Given the description of an element on the screen output the (x, y) to click on. 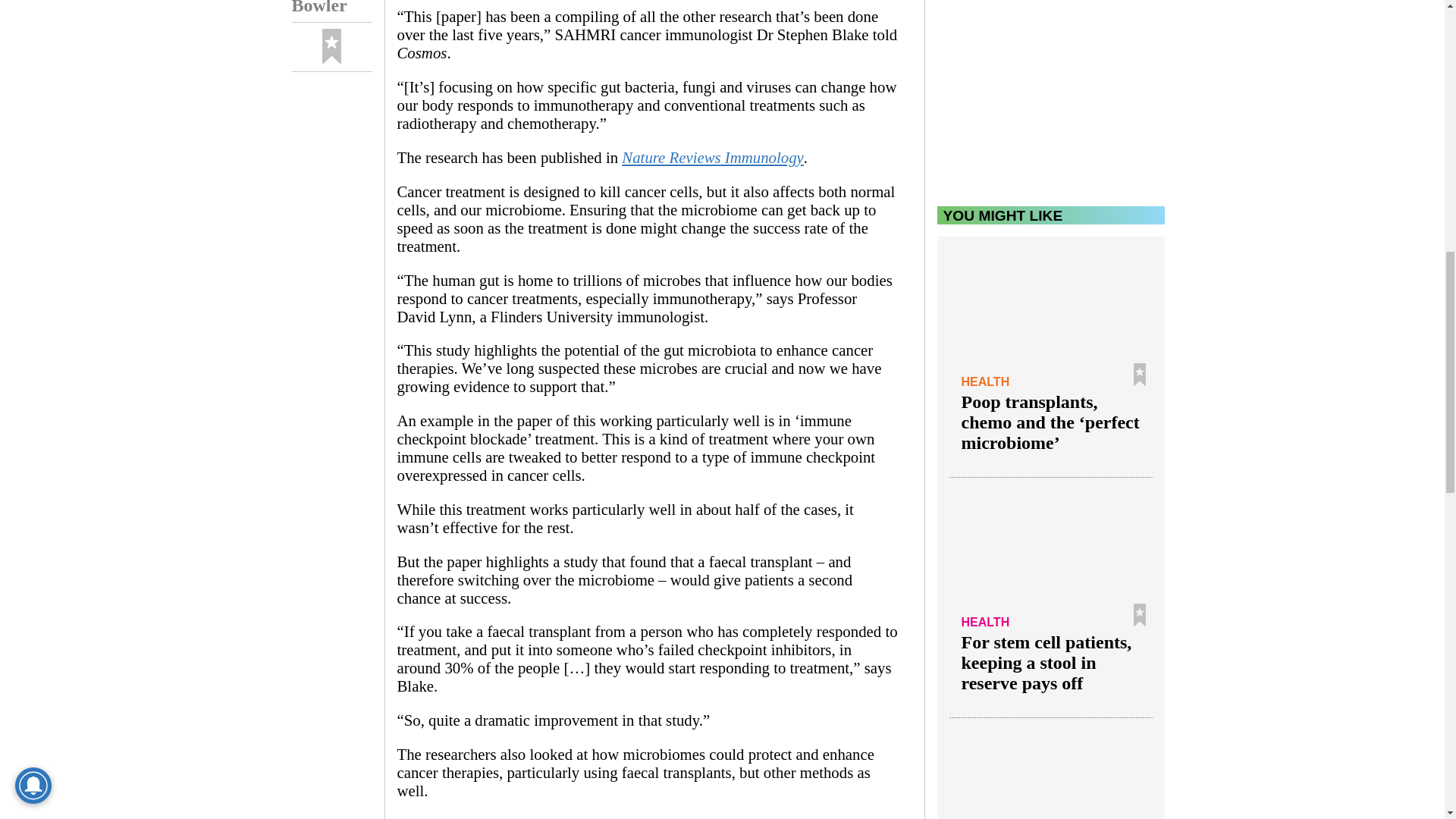
Nature Reviews Immunology (712, 157)
Jacinta Bowler (331, 11)
